Given the description of an element on the screen output the (x, y) to click on. 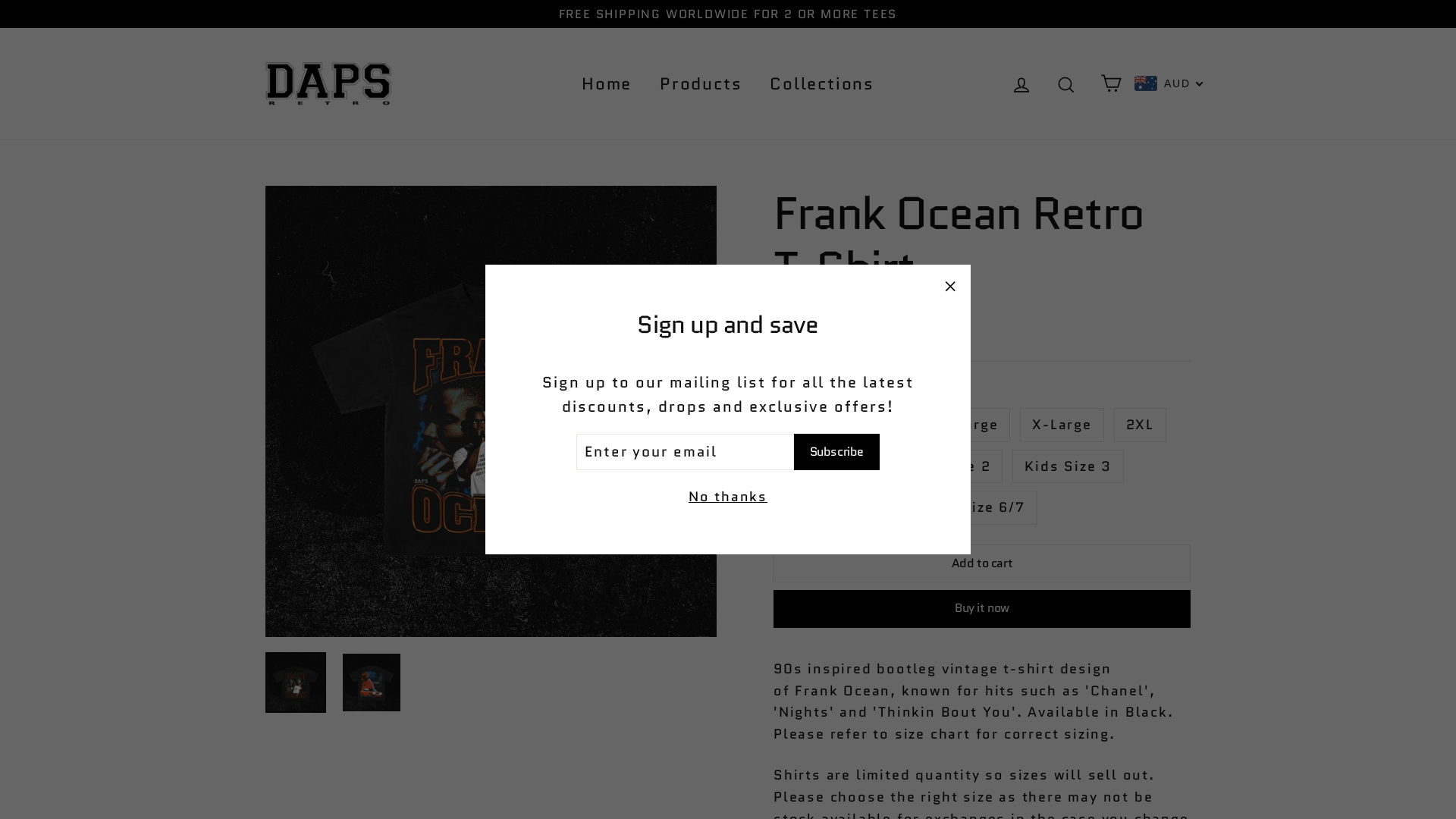
Subscribe Element type: text (836, 451)
Log in Element type: text (1021, 83)
Skip to content Element type: text (0, 0)
No thanks Element type: text (727, 496)
Home Element type: text (606, 83)
Products Element type: text (700, 83)
Collections Element type: text (821, 83)
Cart Element type: text (1110, 83)
Add to cart Element type: text (981, 563)
"Close (esc)" Element type: text (949, 285)
Buy it now Element type: text (981, 608)
Search Element type: text (1065, 83)
